Given the description of an element on the screen output the (x, y) to click on. 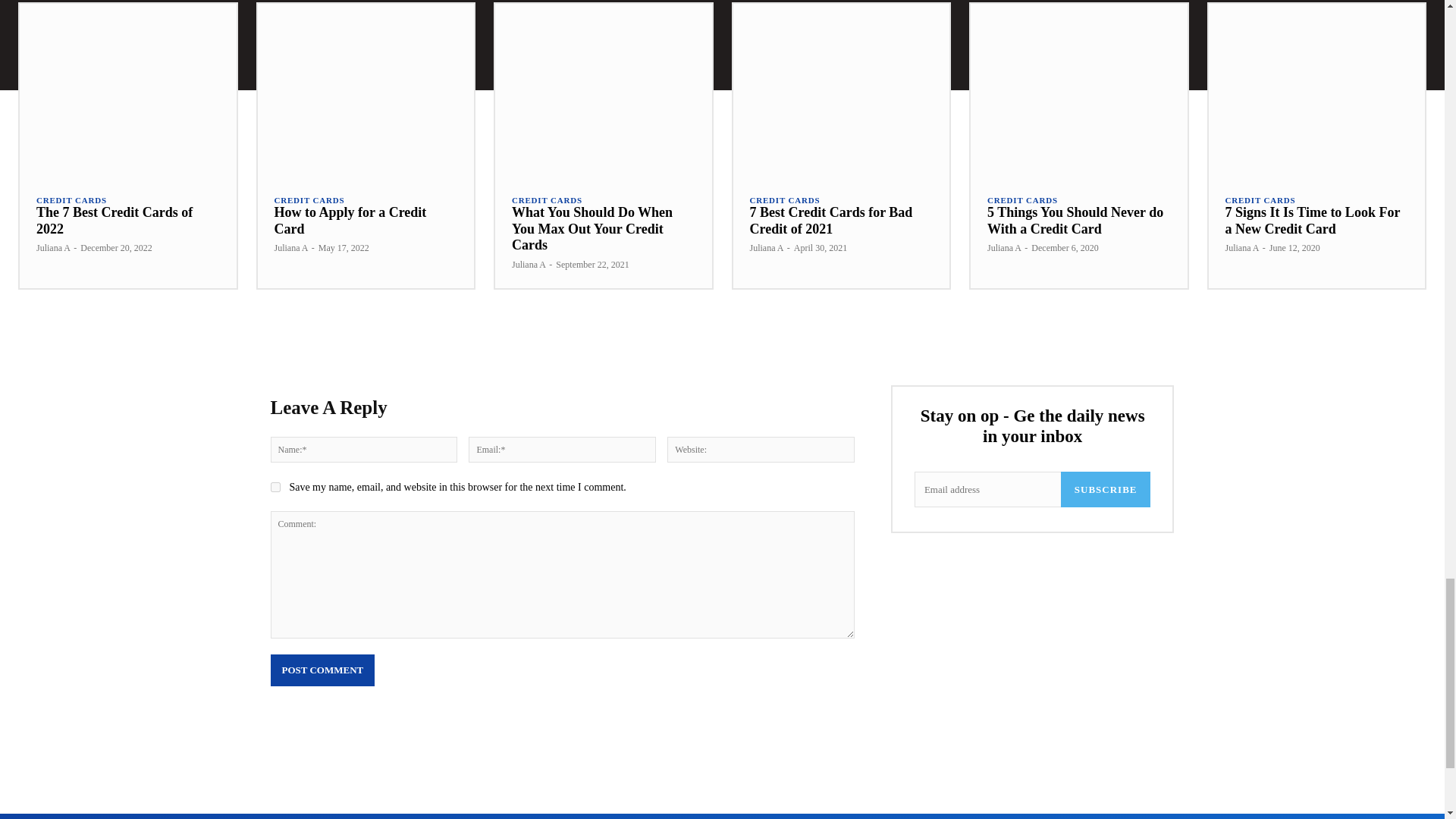
Post Comment (321, 670)
yes (274, 487)
